Given the description of an element on the screen output the (x, y) to click on. 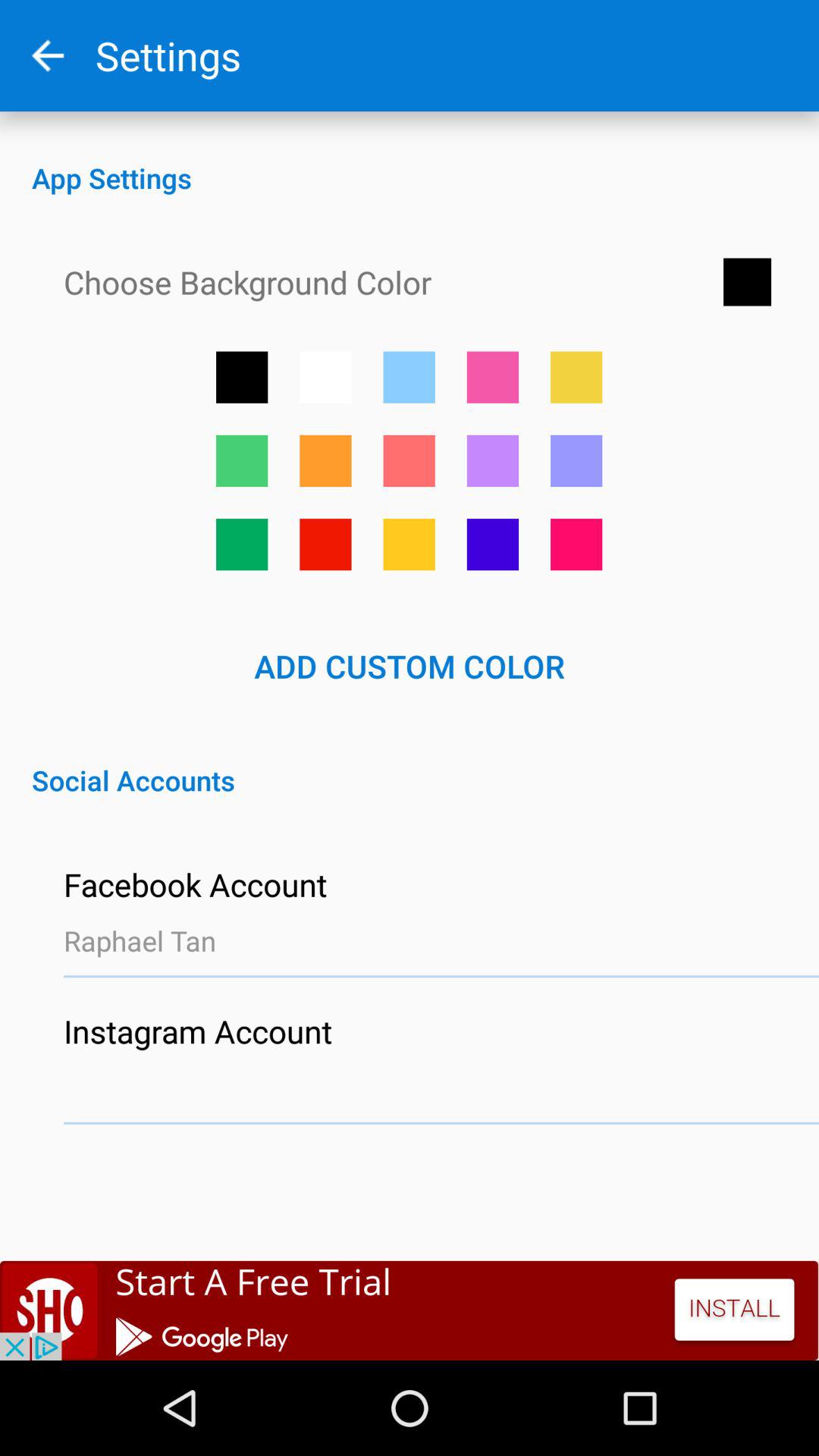
select black color (241, 377)
